Given the description of an element on the screen output the (x, y) to click on. 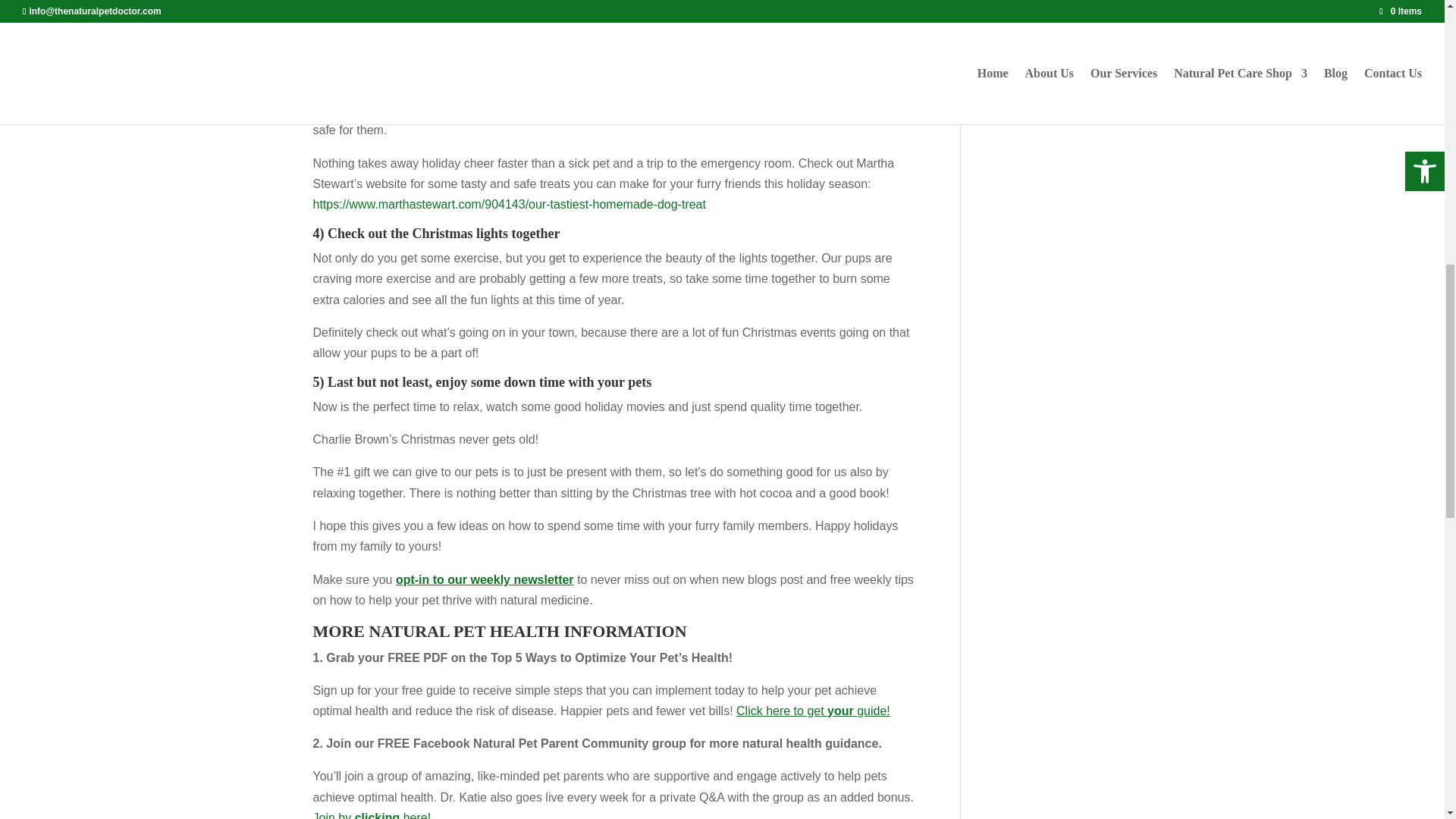
Join by clicking here! (371, 815)
opt-in to our weekly newsletter (484, 579)
Click here to get your guide! (812, 710)
